Given the description of an element on the screen output the (x, y) to click on. 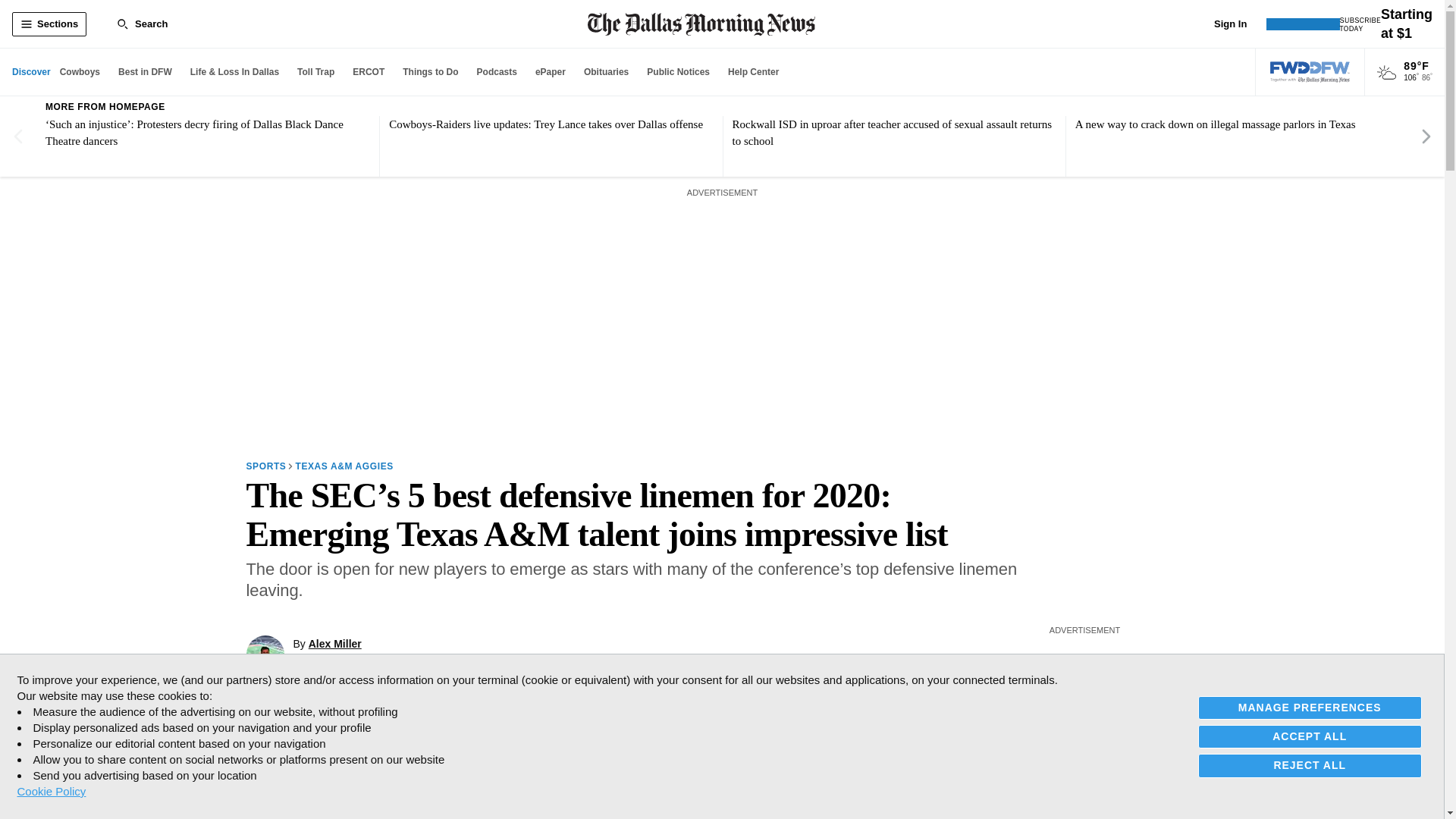
Cookie Policy (50, 790)
ACCEPT ALL (1310, 736)
FWD DFW, Together with The Dallas Morning News (1310, 72)
Few clouds (1386, 72)
MANAGE PREFERENCES (1310, 707)
REJECT ALL (1310, 765)
